Given the description of an element on the screen output the (x, y) to click on. 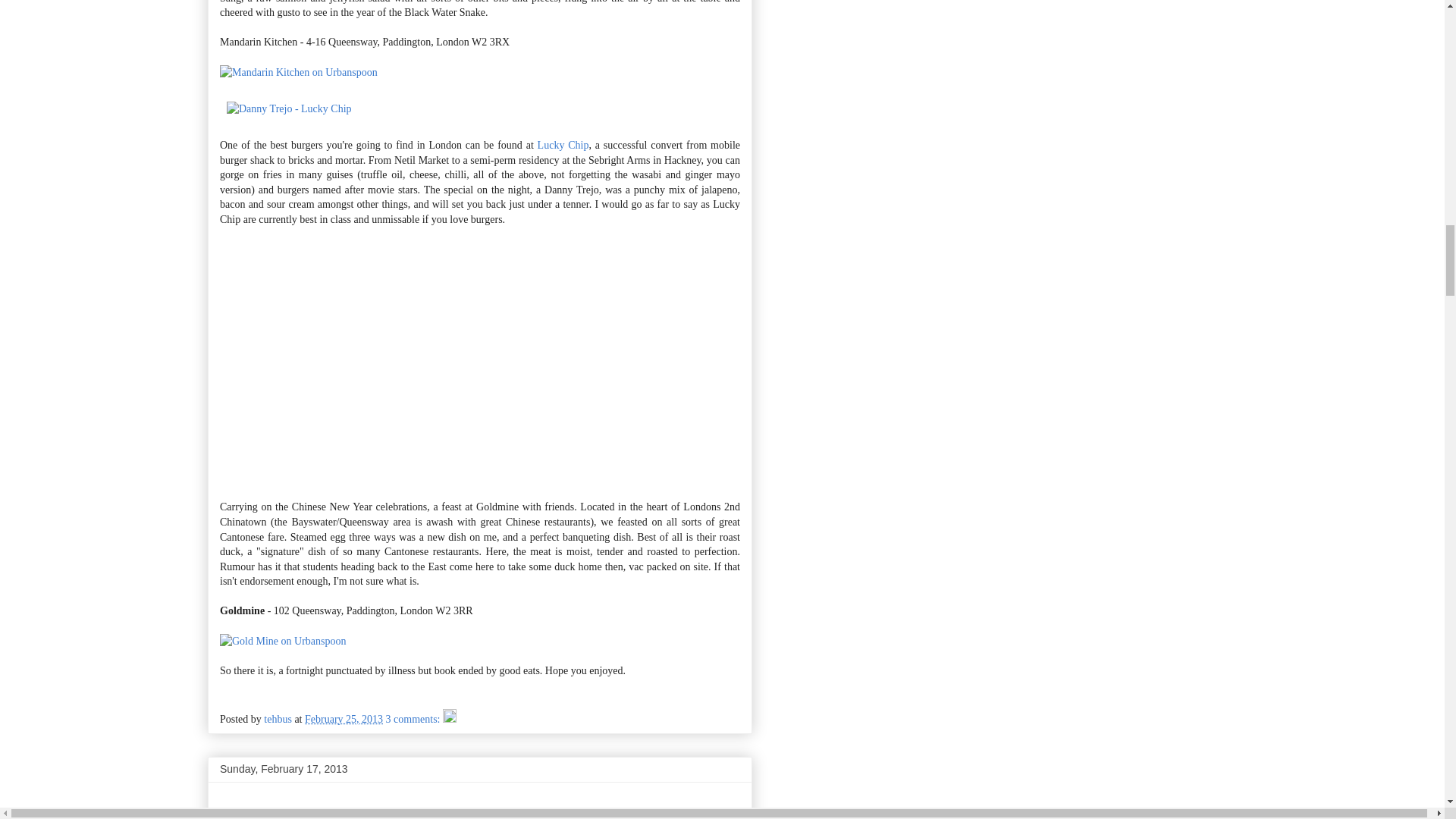
3 comments: (413, 718)
Lucky Chip (563, 144)
tehbus (278, 718)
permanent link (343, 718)
Danny Trejo - Lucky Chip by tehbus, on Flickr (288, 108)
Edit Post (449, 718)
author profile (278, 718)
February 25, 2013 (343, 718)
